Given the description of an element on the screen output the (x, y) to click on. 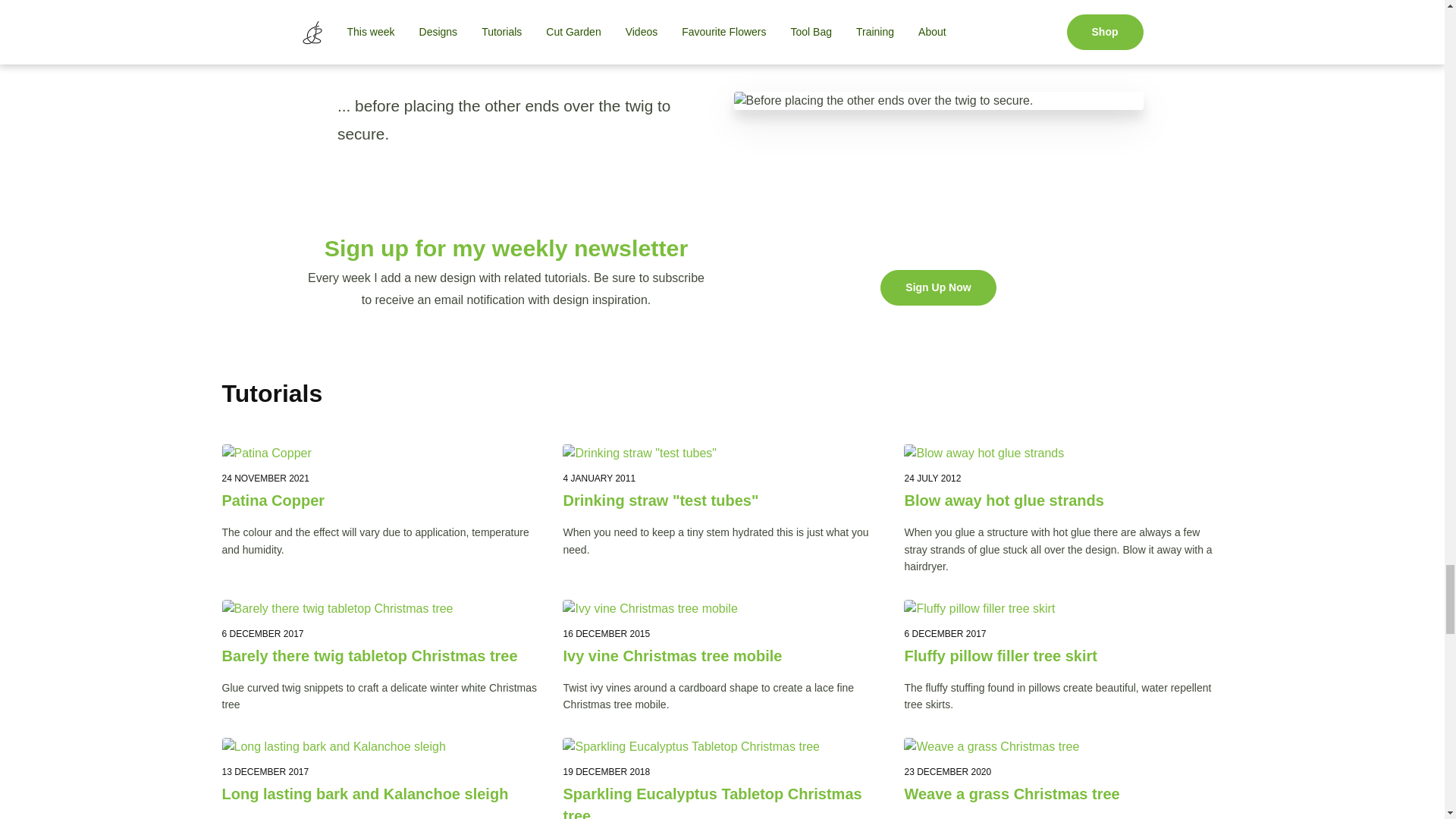
Blow away hot glue strands (1063, 500)
Patina Copper (380, 500)
Barely there twig tabletop Christmas tree (380, 656)
Drinking straw "test tubes" (721, 500)
Long lasting bark and Kalanchoe sleigh (380, 793)
Fluffy pillow filler tree skirt (1063, 656)
Sign up for my weekly newsletter (506, 248)
Ivy vine Christmas tree mobile (721, 656)
Sign Up Now (937, 287)
Weave a grass Christmas tree (1063, 793)
Sparkling Eucalyptus Tabletop Christmas tree (721, 800)
